Given the description of an element on the screen output the (x, y) to click on. 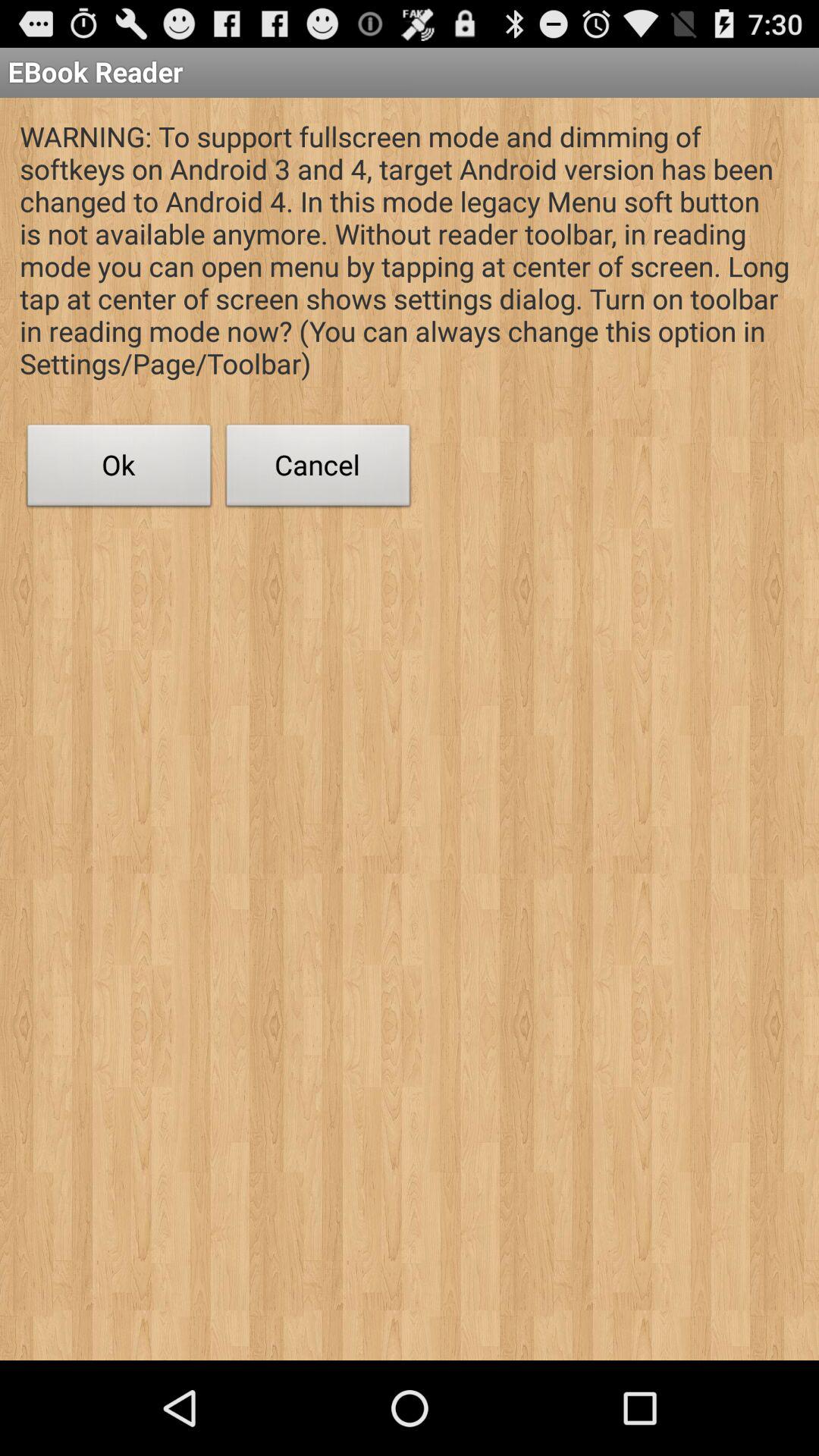
open icon next to the ok item (318, 469)
